Given the description of an element on the screen output the (x, y) to click on. 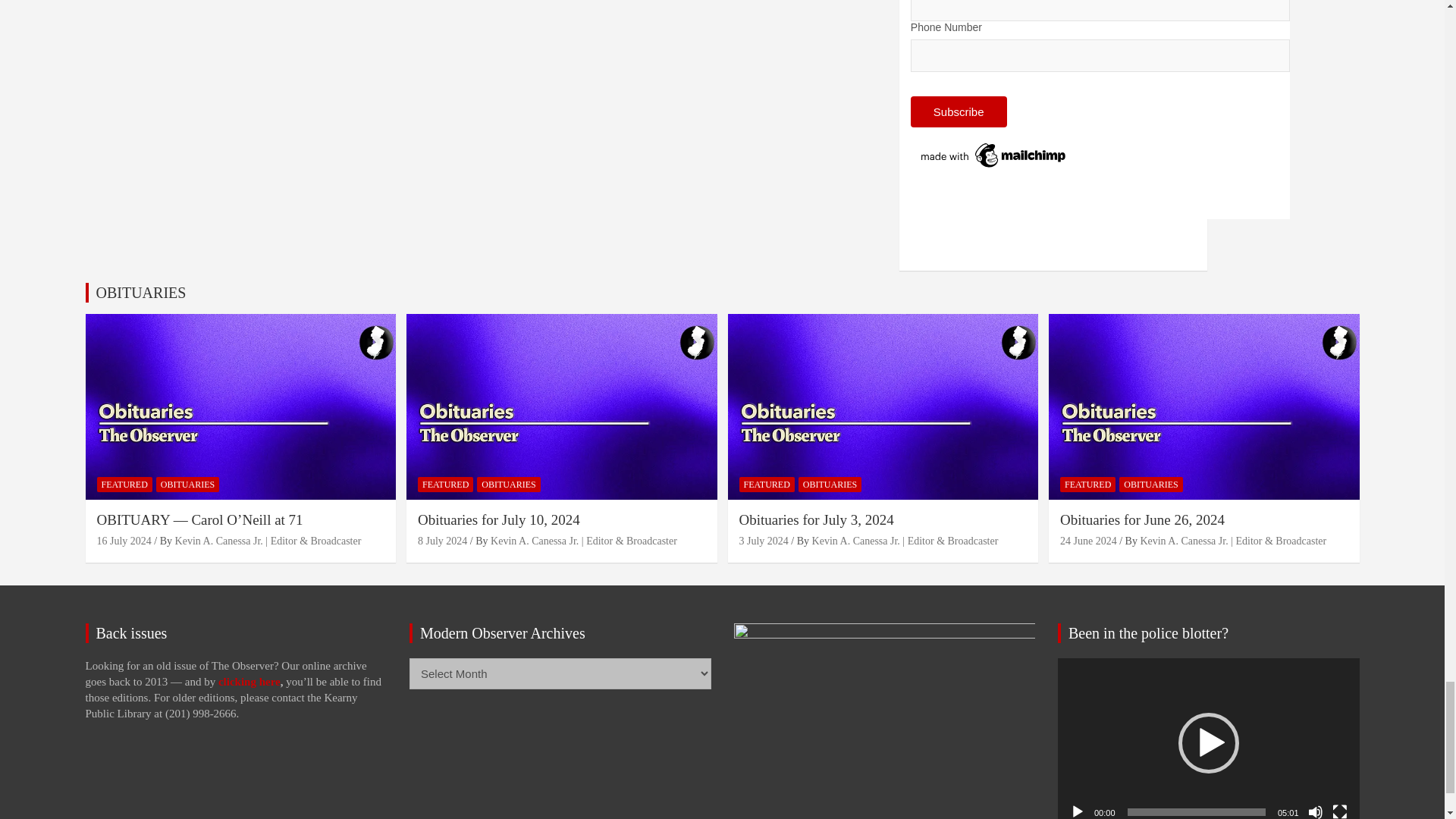
Subscribe (959, 111)
